Given the description of an element on the screen output the (x, y) to click on. 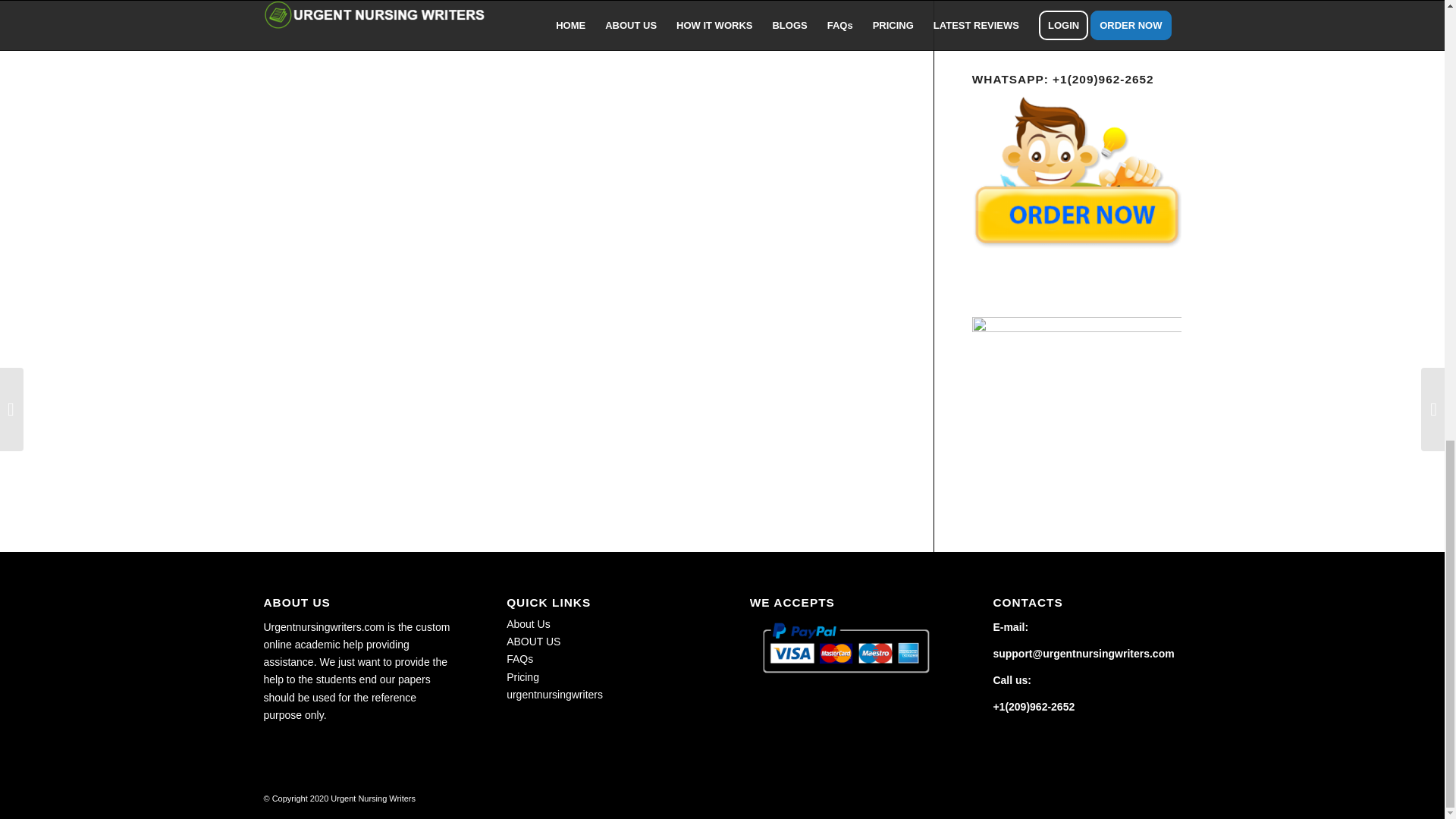
urgentnursingwriters (554, 694)
ABOUT US (533, 641)
About Us (528, 623)
Pricing (522, 676)
FAQs (519, 658)
